Given the description of an element on the screen output the (x, y) to click on. 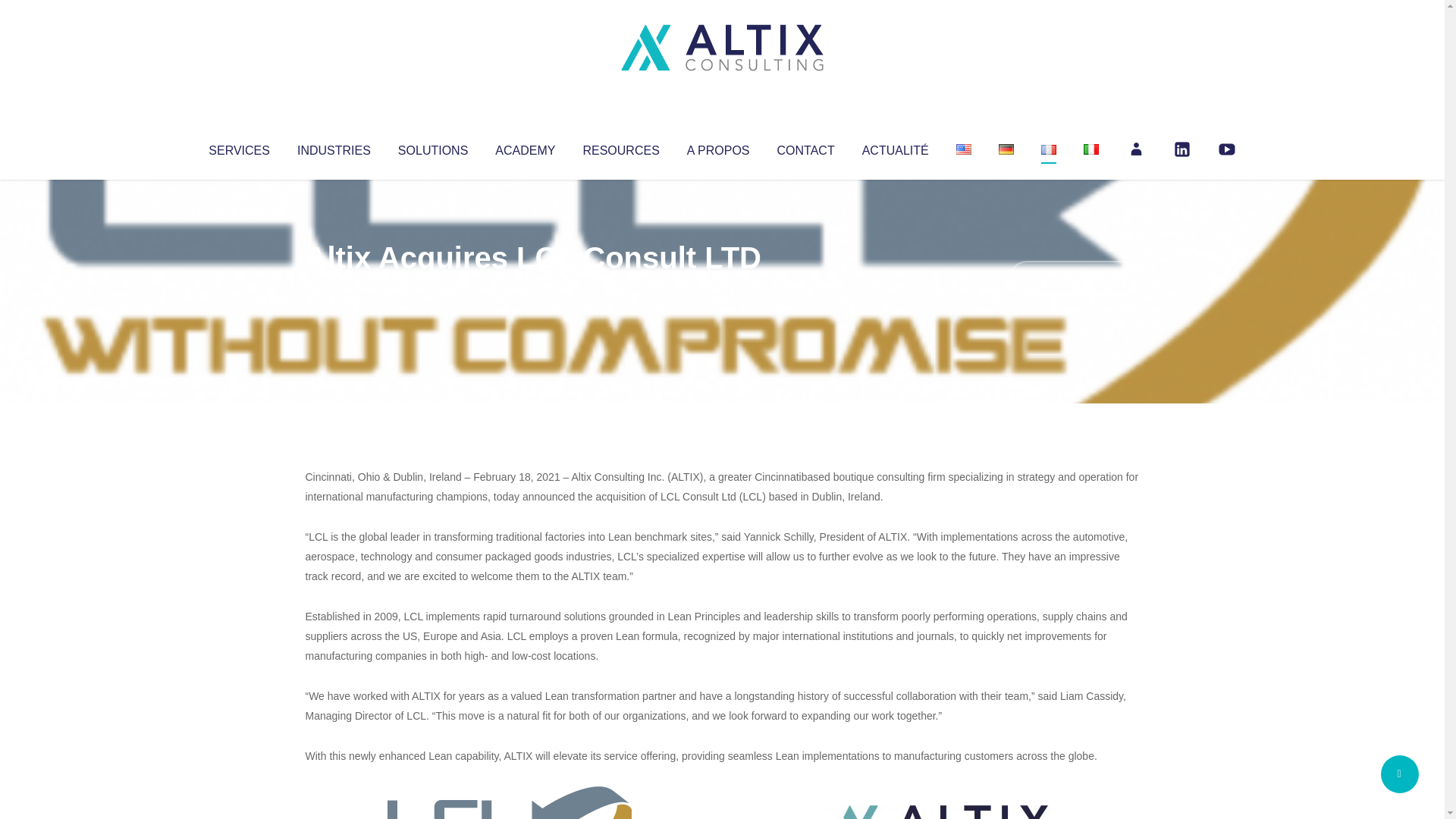
Uncategorized (530, 287)
ACADEMY (524, 146)
RESOURCES (620, 146)
Articles par Altix (333, 287)
INDUSTRIES (334, 146)
A PROPOS (718, 146)
SERVICES (238, 146)
Altix (333, 287)
SOLUTIONS (432, 146)
No Comments (1073, 278)
